Given the description of an element on the screen output the (x, y) to click on. 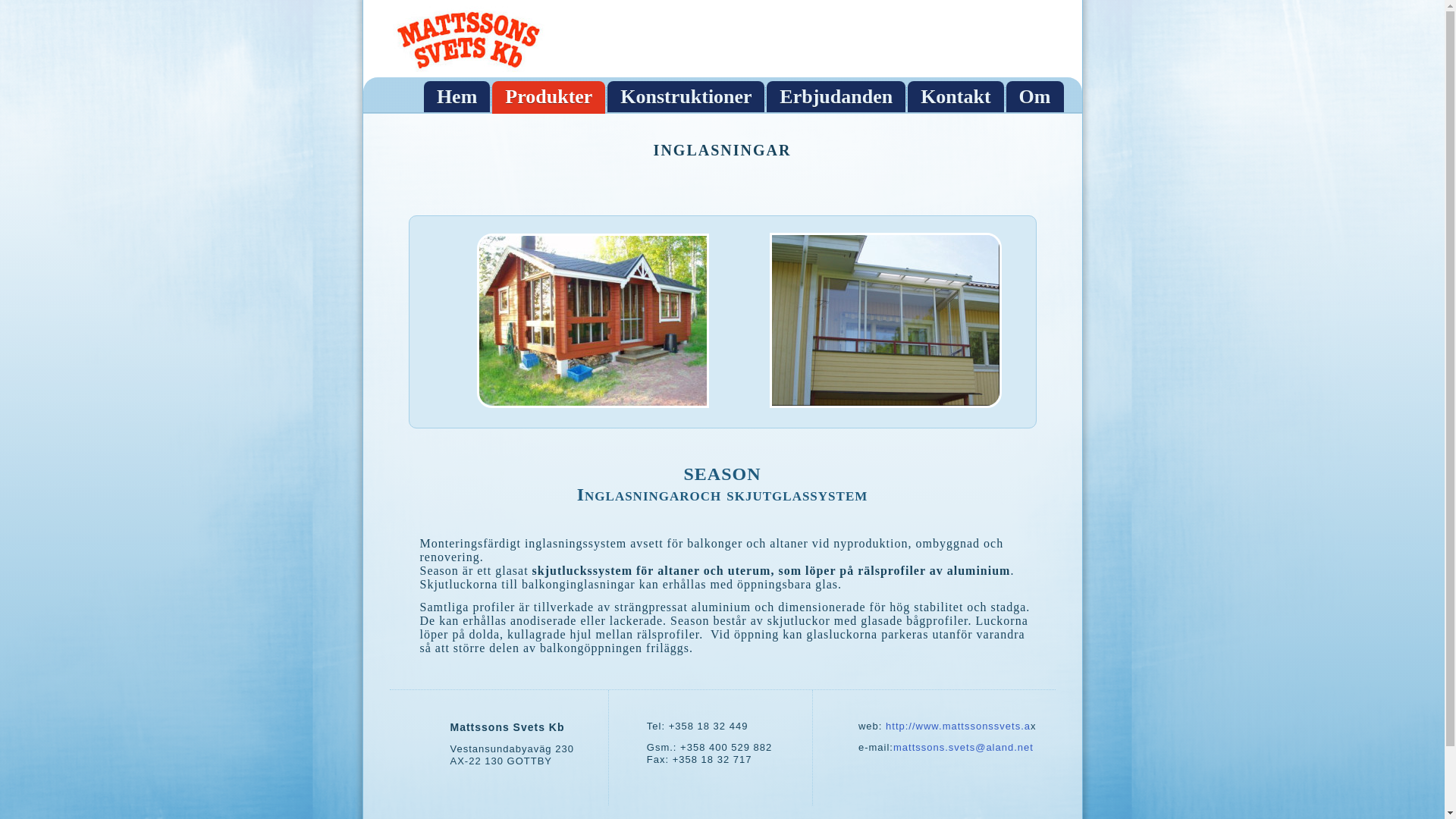
Erbjudanden Element type: text (835, 96)
Hem Element type: text (456, 96)
mattssons.svets@aland.net Element type: text (963, 747)
Om Element type: text (1034, 96)
Produkter Element type: text (548, 97)
Kontakt Element type: text (955, 96)
http://www.mattssonssvets.a Element type: text (957, 725)
Konstruktioner Element type: text (685, 96)
